Given the description of an element on the screen output the (x, y) to click on. 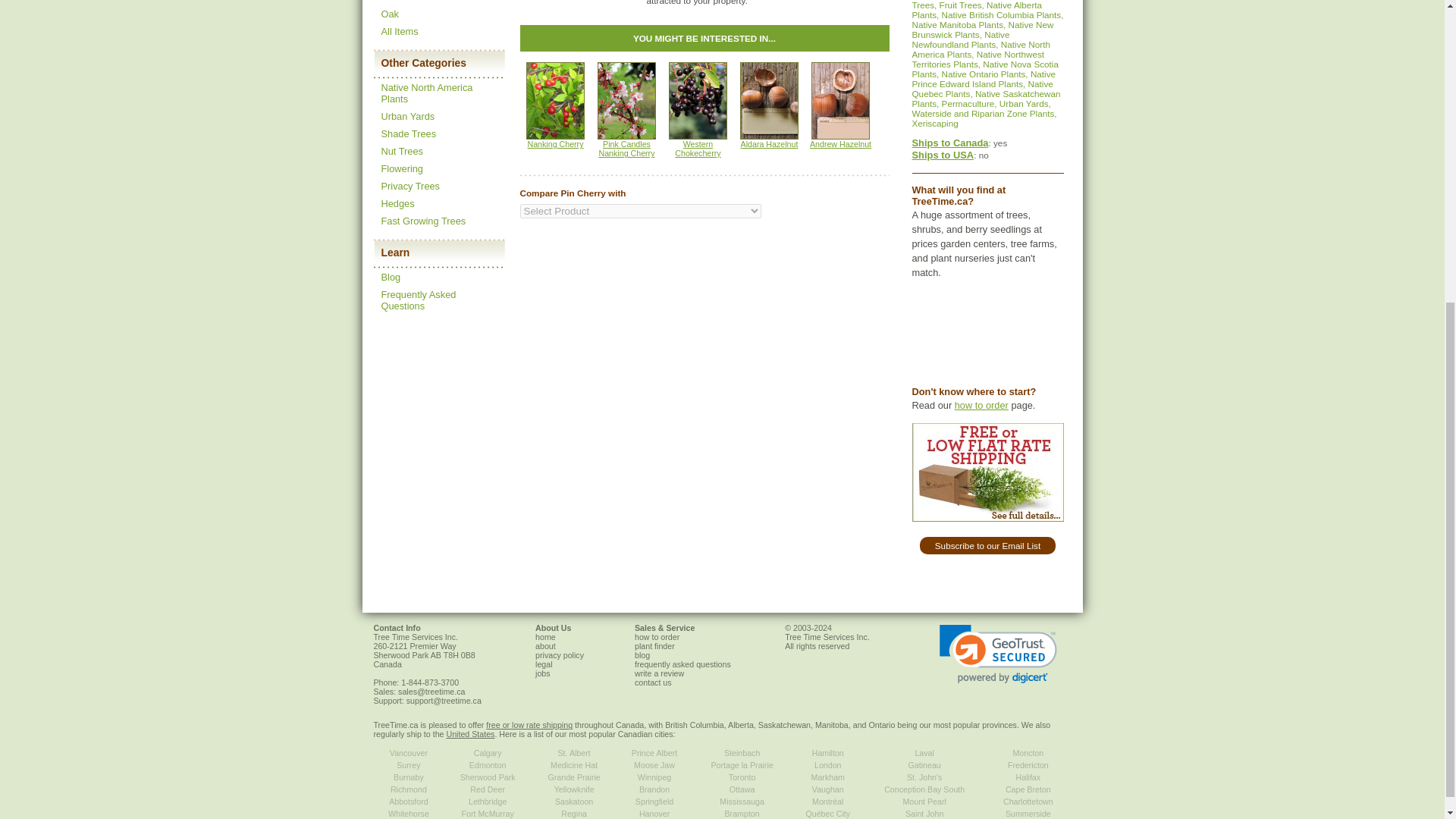
Native North America Plants (425, 92)
Willow (394, 1)
Blog (390, 276)
Frequently Asked Questions (417, 300)
Privacy Trees (409, 185)
Nut Trees (401, 151)
click here to see if your order qualifies for free shipping (986, 472)
All Items (398, 30)
Hedges (396, 203)
Fast Growing Trees (422, 220)
Urban Yards (406, 116)
Oak (388, 13)
Shade Trees (407, 133)
Flowering (401, 168)
